Given the description of an element on the screen output the (x, y) to click on. 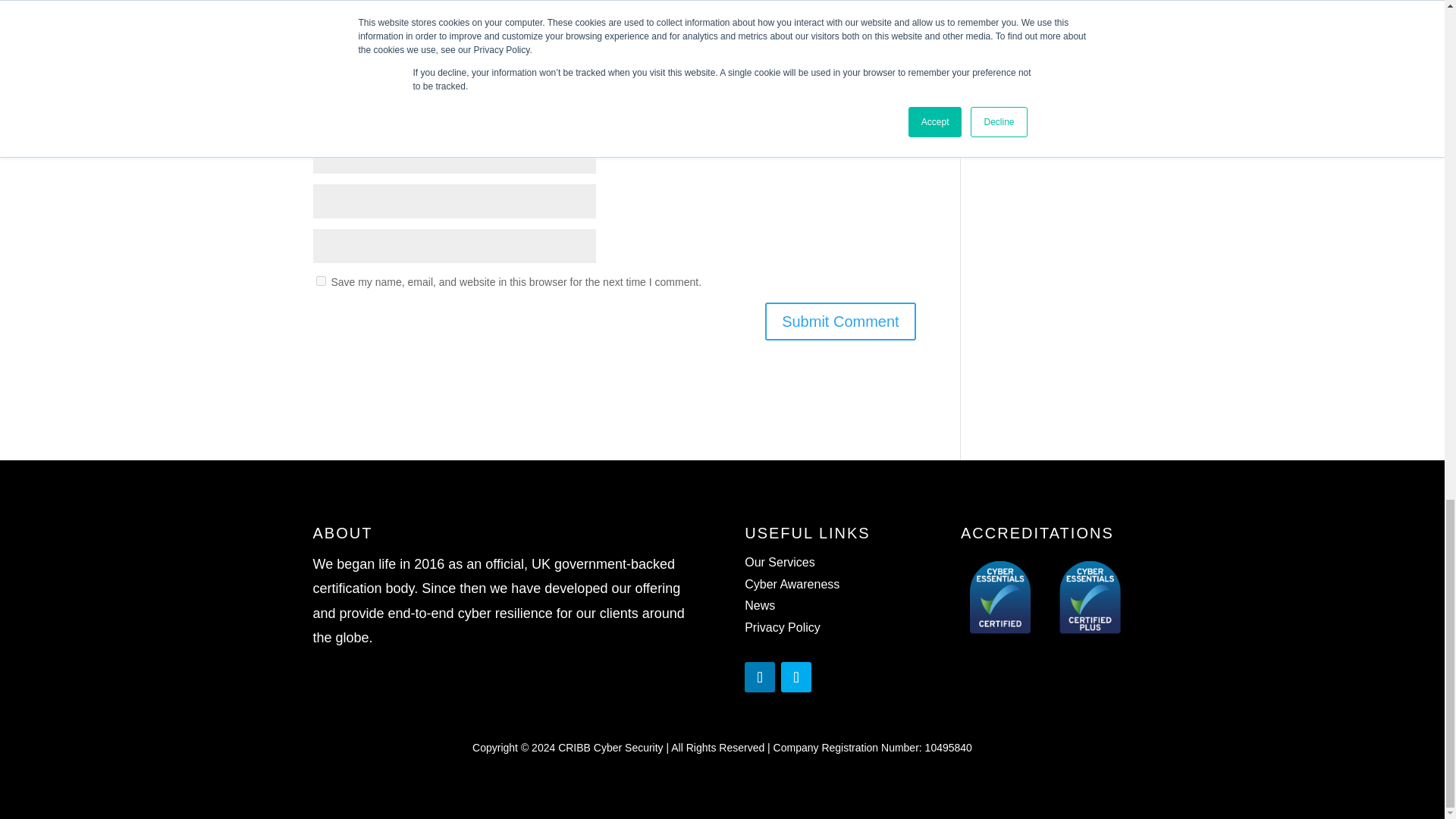
Screenshot 2022-06-30 at 16.26.03 (1045, 599)
Submit Comment (840, 321)
Follow on Twitter (795, 676)
yes (319, 280)
Follow on LinkedIn (759, 676)
